Given the description of an element on the screen output the (x, y) to click on. 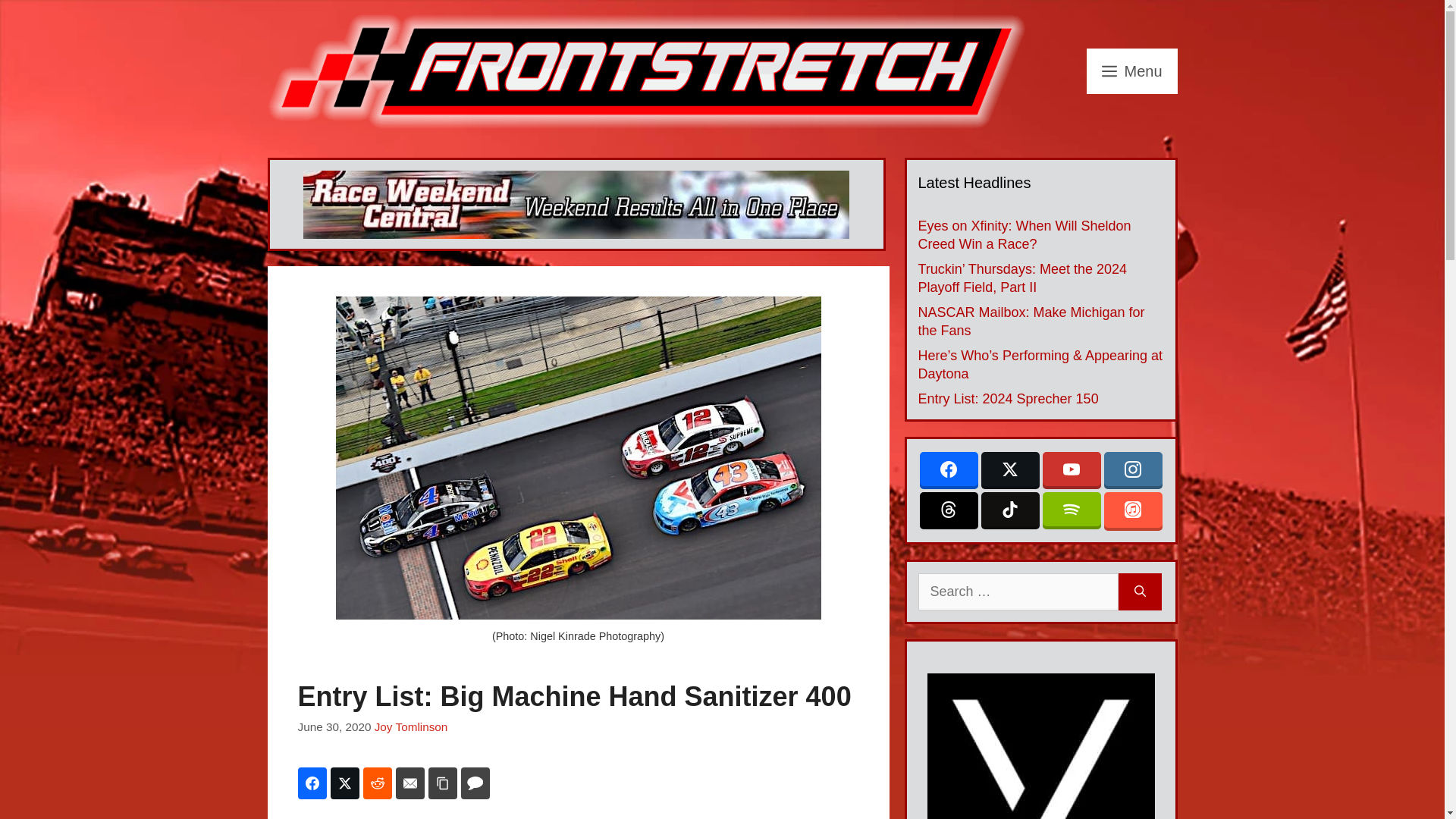
Share on Twitter (344, 783)
Share on Copy Link (442, 783)
Menu (1131, 71)
Joy Tomlinson (411, 726)
Search for: (1017, 591)
Share on Reddit (376, 783)
Share on Email (410, 783)
Share on Comments (475, 783)
Share on Facebook (311, 783)
